Given the description of an element on the screen output the (x, y) to click on. 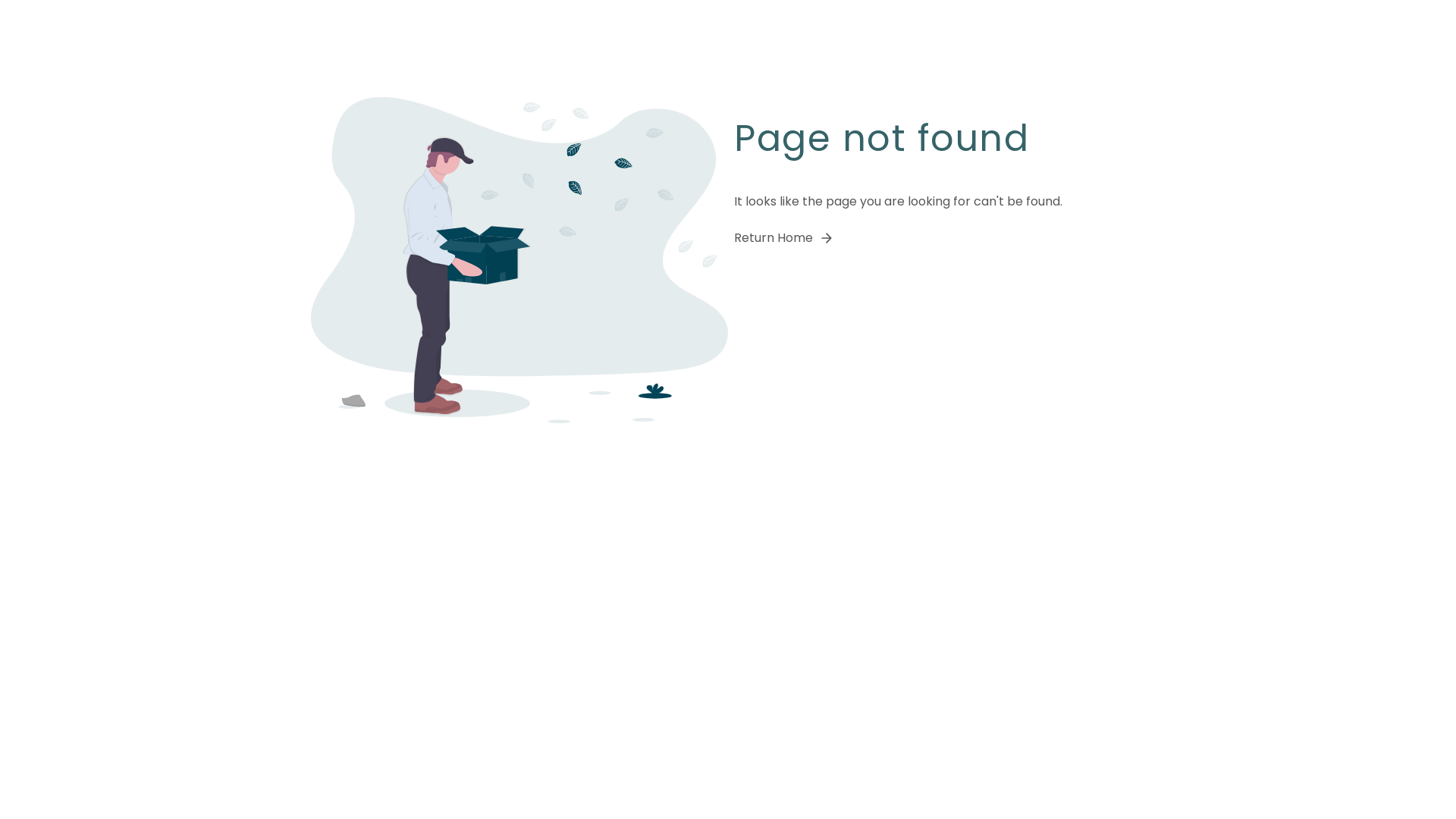
Return Home Element type: text (784, 238)
